Given the description of an element on the screen output the (x, y) to click on. 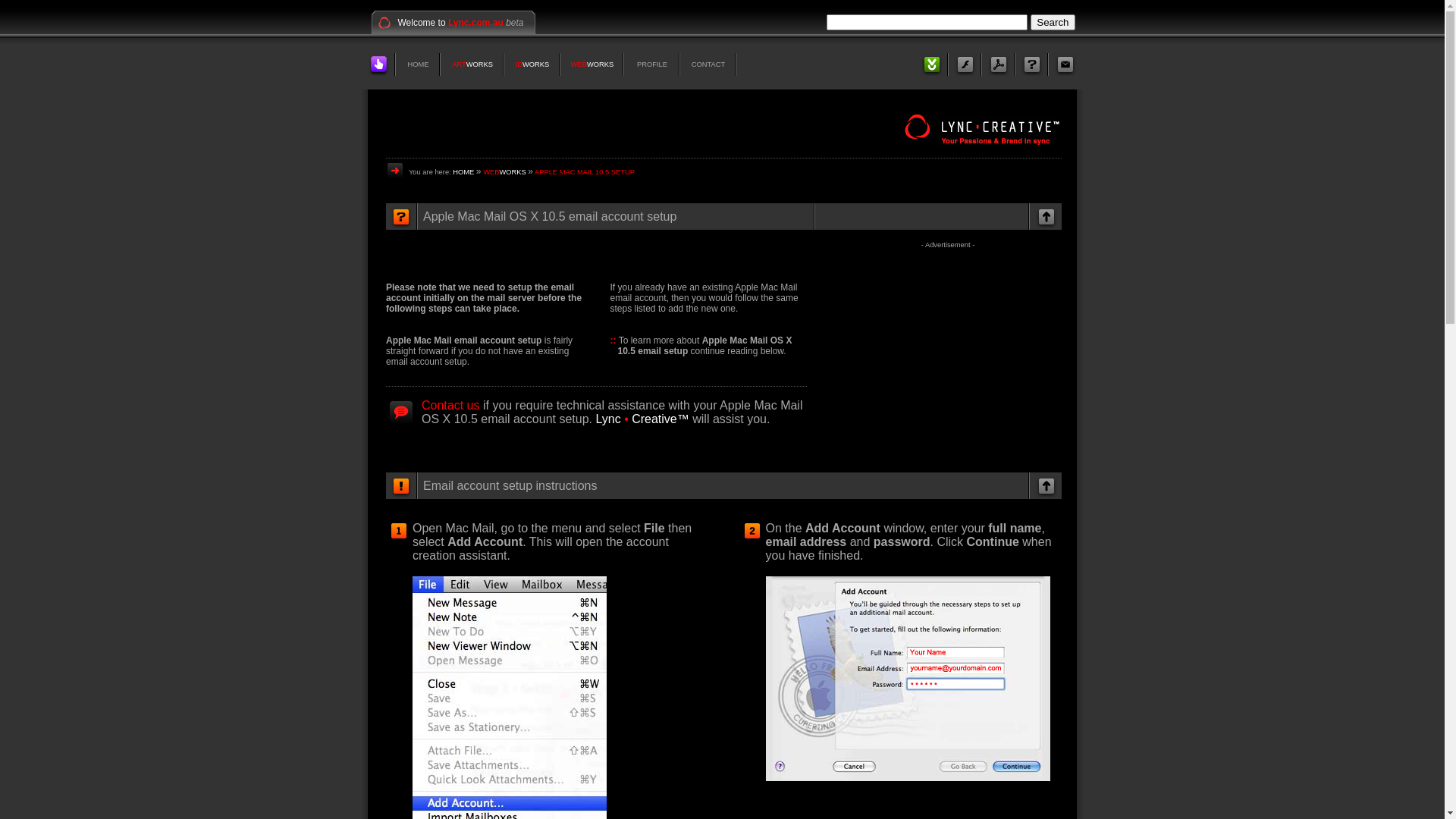
WEB Element type: text (578, 64)
Search Element type: text (1052, 22)
WORKS Element type: text (599, 64)
APPLE MAC MAIL 10.5 SETUP Element type: text (584, 171)
CONTACT Element type: text (707, 64)
ART Element type: text (458, 64)
WEB Element type: text (490, 171)
Welcome to Lync.com.au Element type: text (449, 22)
PROFILE Element type: text (652, 64)
ID Element type: text (518, 64)
Advertisement Element type: hover (947, 354)
WORKS Element type: text (535, 64)
WORKS Element type: text (479, 64)
HOME Element type: text (462, 171)
WORKS Element type: text (511, 171)
HOME Element type: text (418, 64)
